Given the description of an element on the screen output the (x, y) to click on. 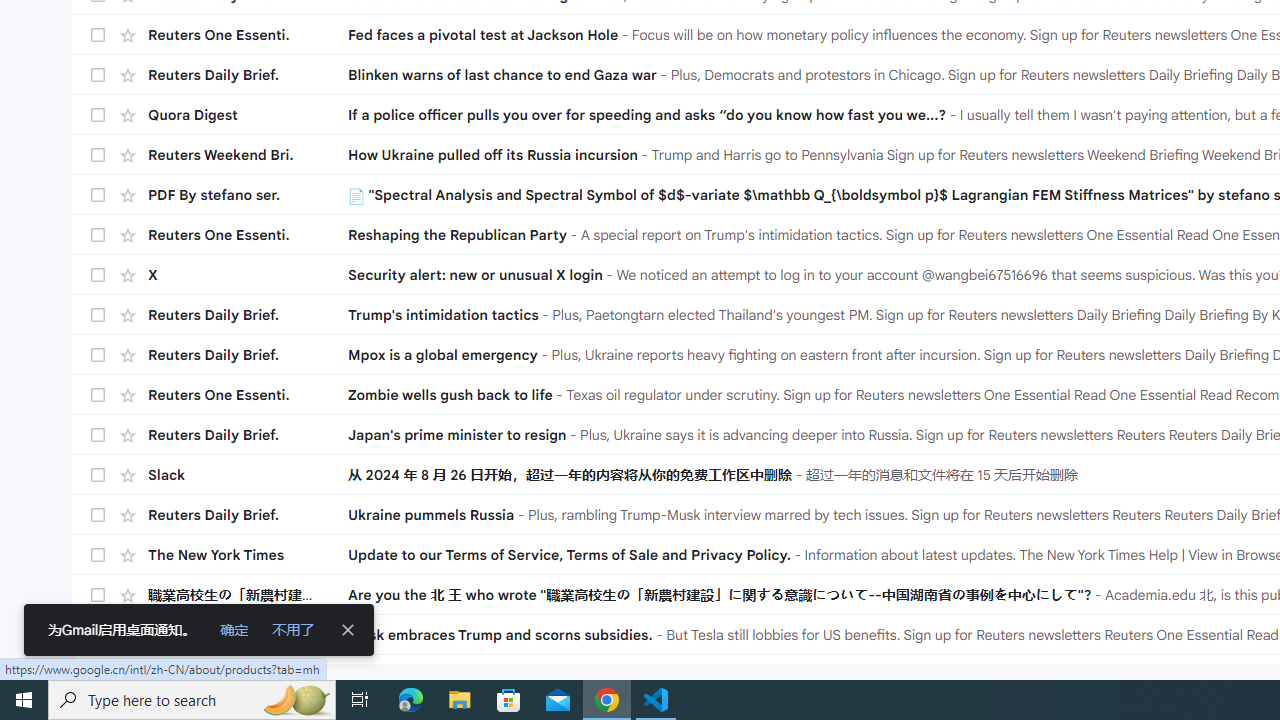
Reuters One Essenti. (248, 634)
PDF By stefano ser. (248, 195)
X (248, 274)
